Given the description of an element on the screen output the (x, y) to click on. 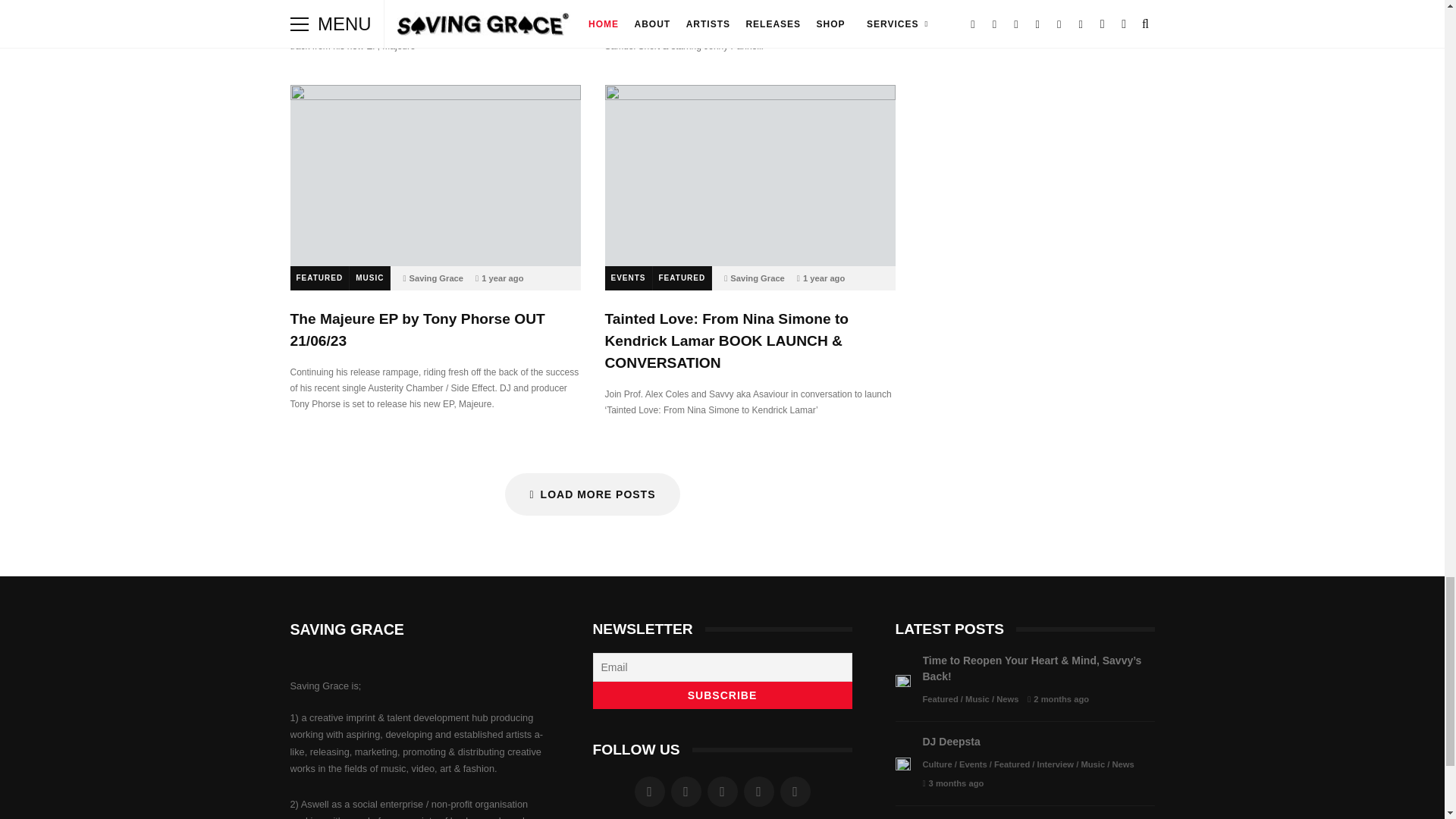
Subscribe (721, 695)
Posts by Saving Grace (436, 277)
Posts by Saving Grace (757, 277)
